Given the description of an element on the screen output the (x, y) to click on. 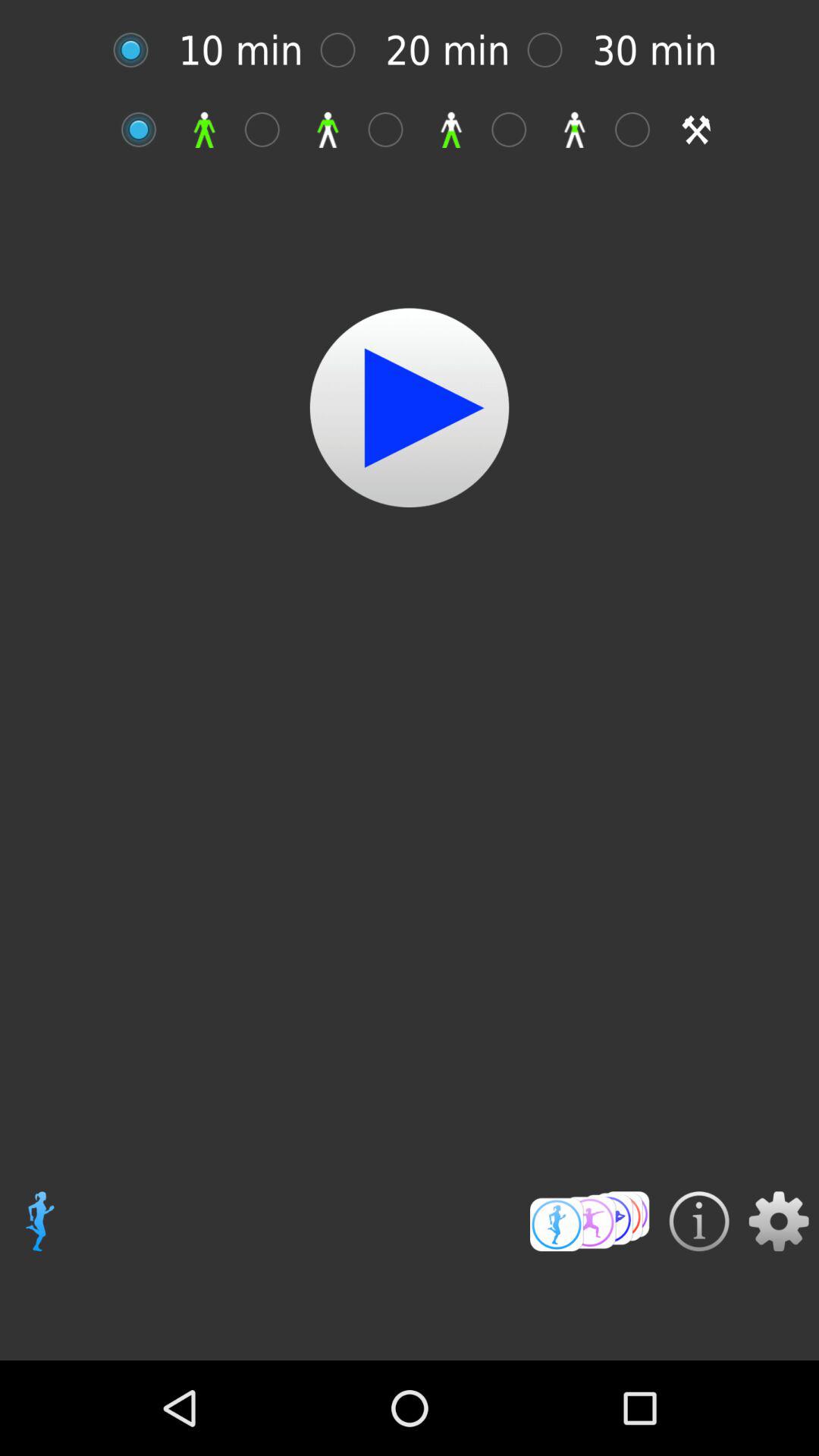
upper body workout (269, 129)
